Given the description of an element on the screen output the (x, y) to click on. 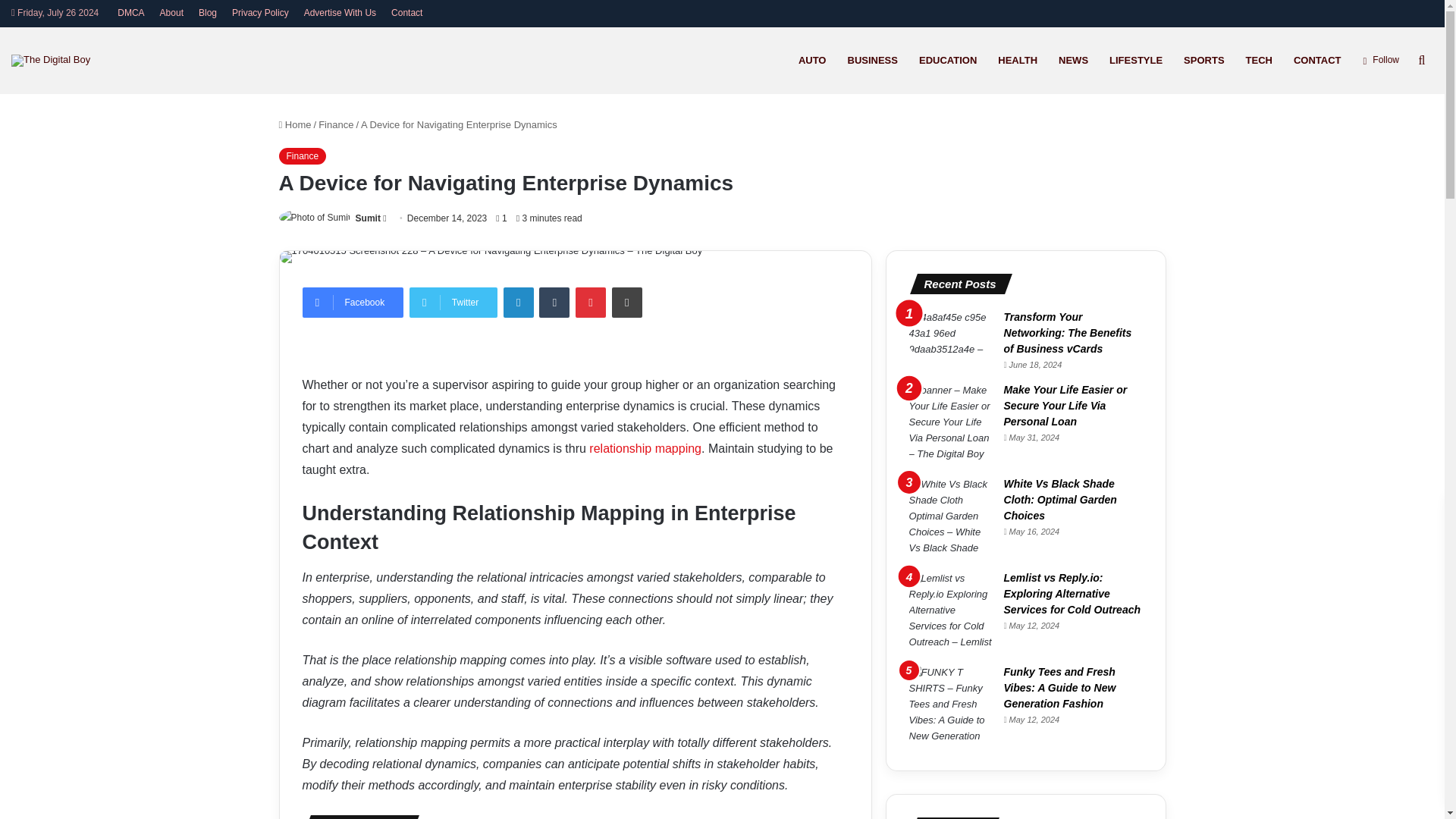
EDUCATION (947, 60)
Twitter (453, 302)
Blog (207, 13)
Facebook (352, 302)
The Digital Boy (50, 60)
HEALTH (1017, 60)
Finance (335, 124)
About (171, 13)
Facebook (352, 302)
SPORTS (1203, 60)
DMCA (130, 13)
Privacy Policy (260, 13)
Finance (302, 156)
BUSINESS (872, 60)
Sumit (367, 217)
